Given the description of an element on the screen output the (x, y) to click on. 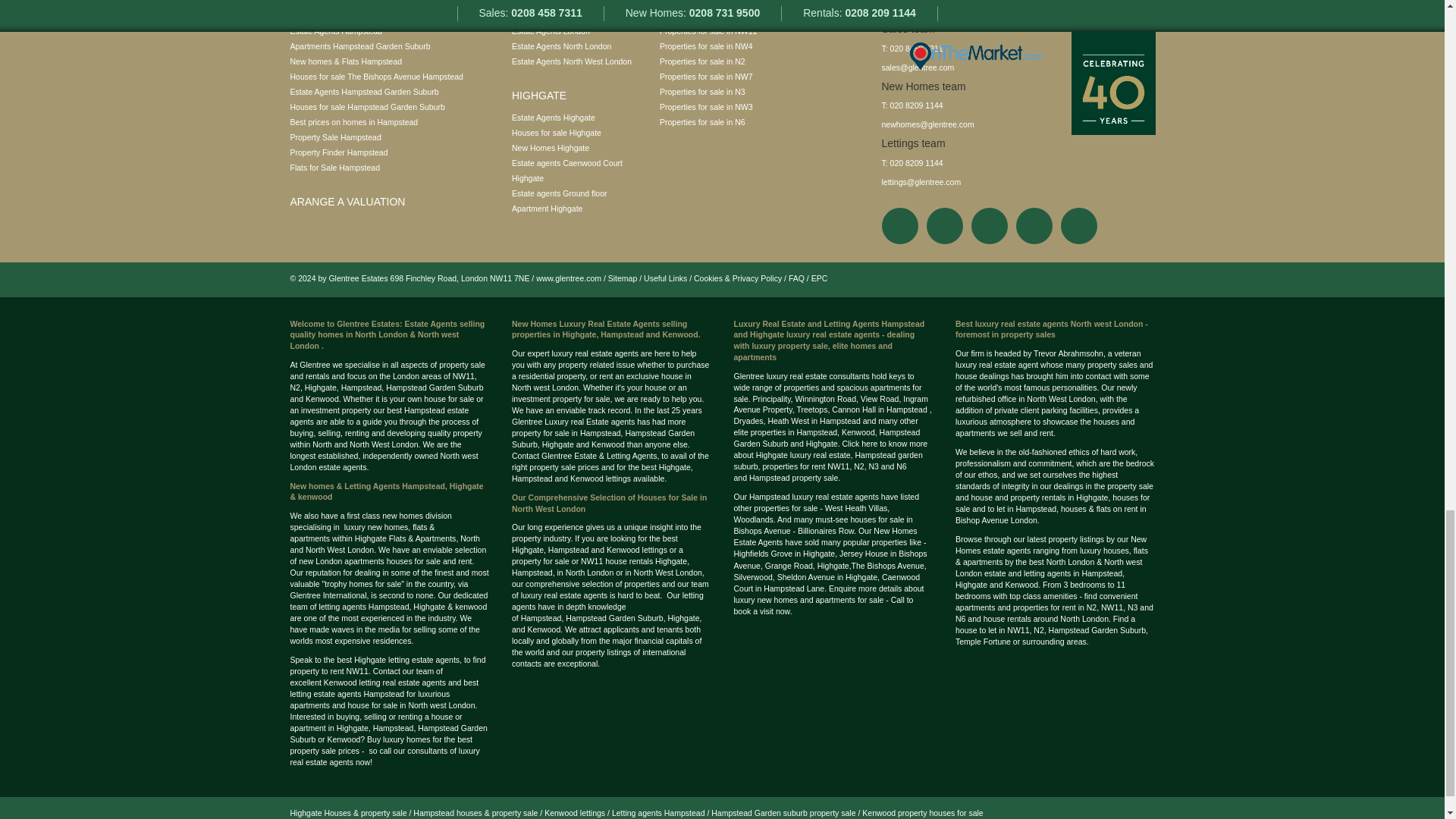
Best prices on homes in Hampstead (353, 121)
Apartments Hampstead Garden Suburb (359, 45)
Estate Agents Hampstead Garden Suburb (363, 91)
Property Sale Hampstead (334, 136)
Houses for sale The Bishops Avenue Hampstead (376, 76)
Estate Agents Hampstead (335, 31)
Houses for sale Hampstead Garden Suburb (366, 106)
